Given the description of an element on the screen output the (x, y) to click on. 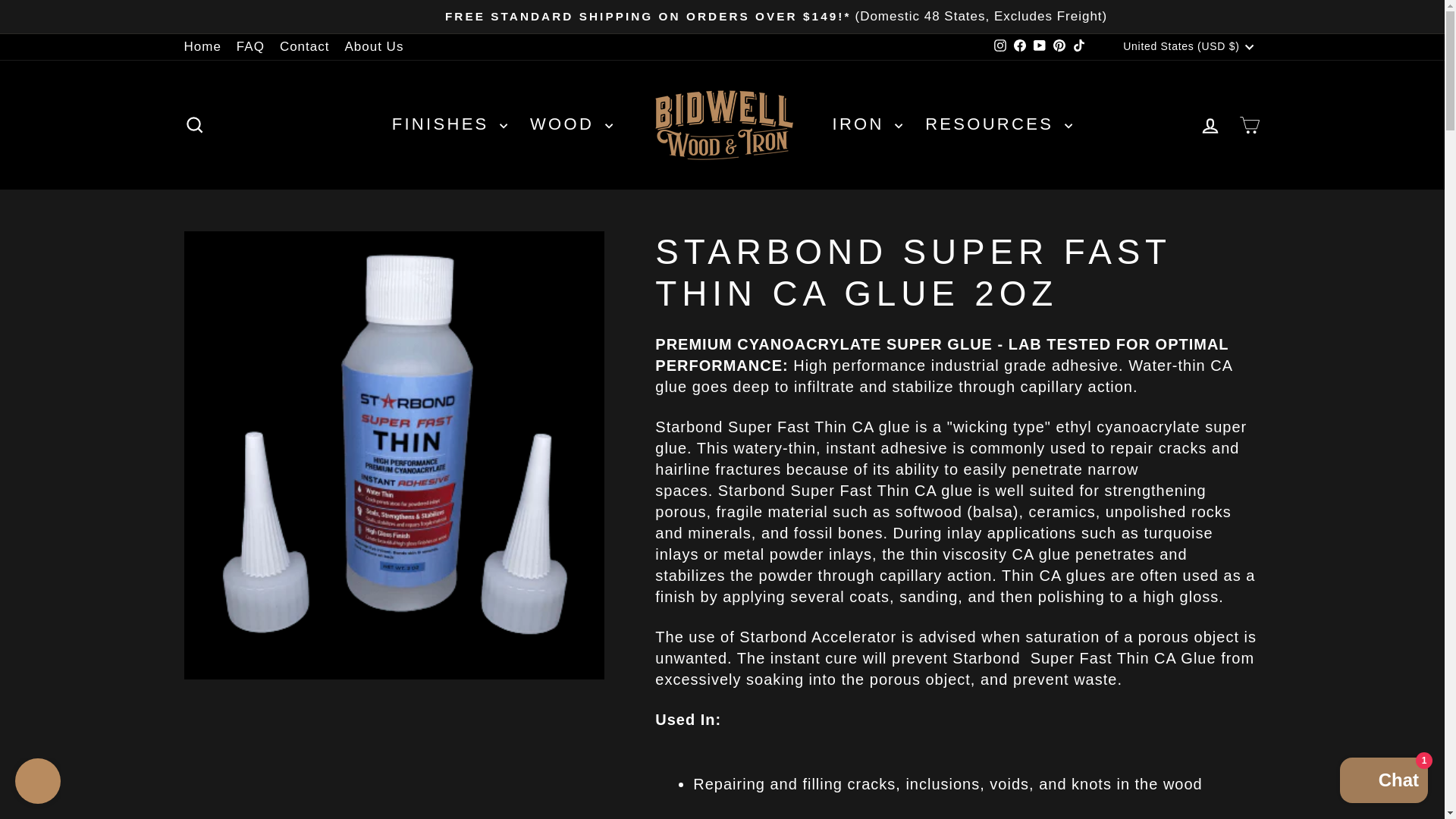
ACCOUNT (1210, 125)
ICON-SEARCH (194, 124)
instagram (1000, 45)
